Given the description of an element on the screen output the (x, y) to click on. 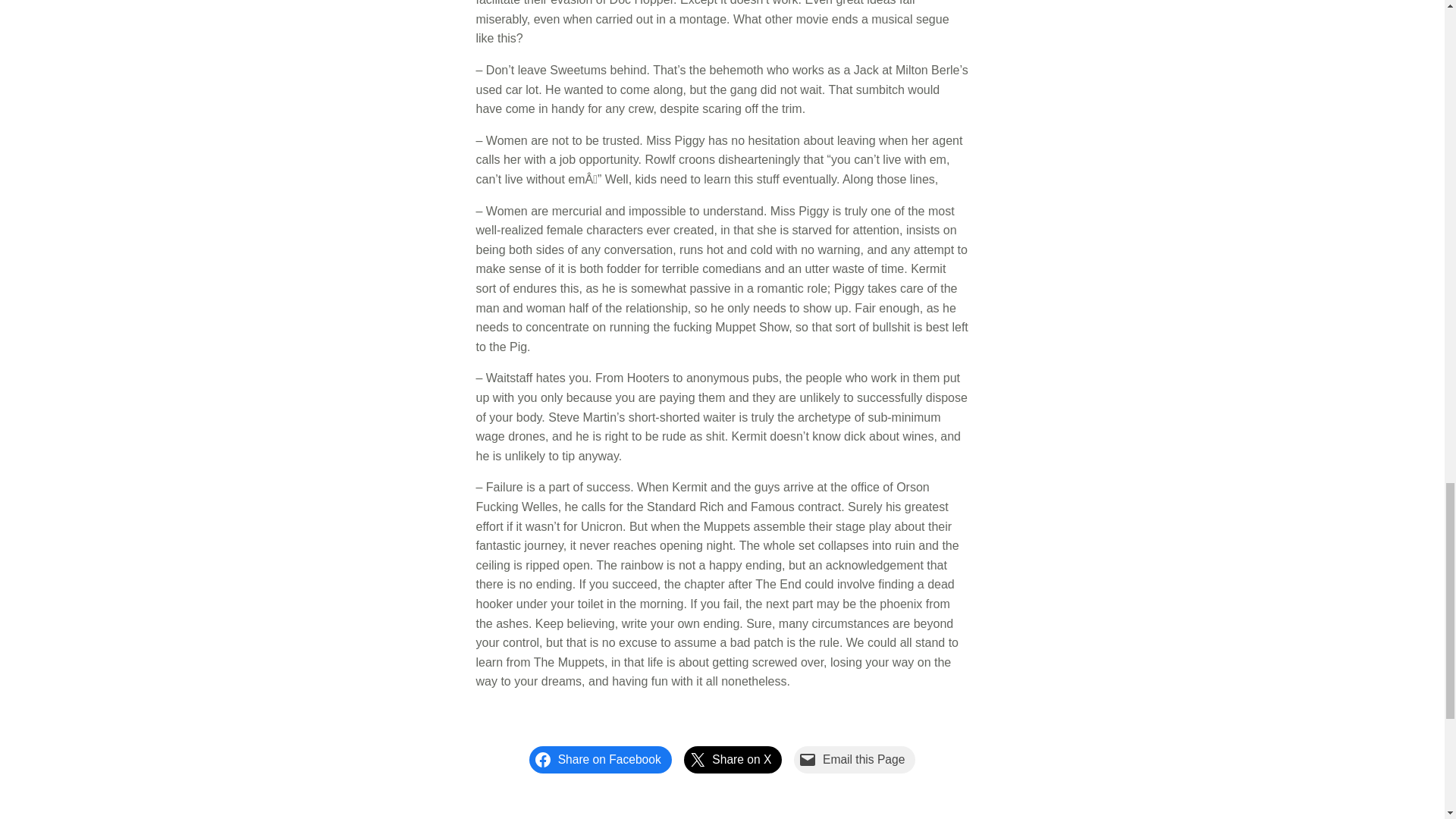
Share on Facebook (600, 759)
Email this Page (854, 759)
Share on X (733, 759)
